Given the description of an element on the screen output the (x, y) to click on. 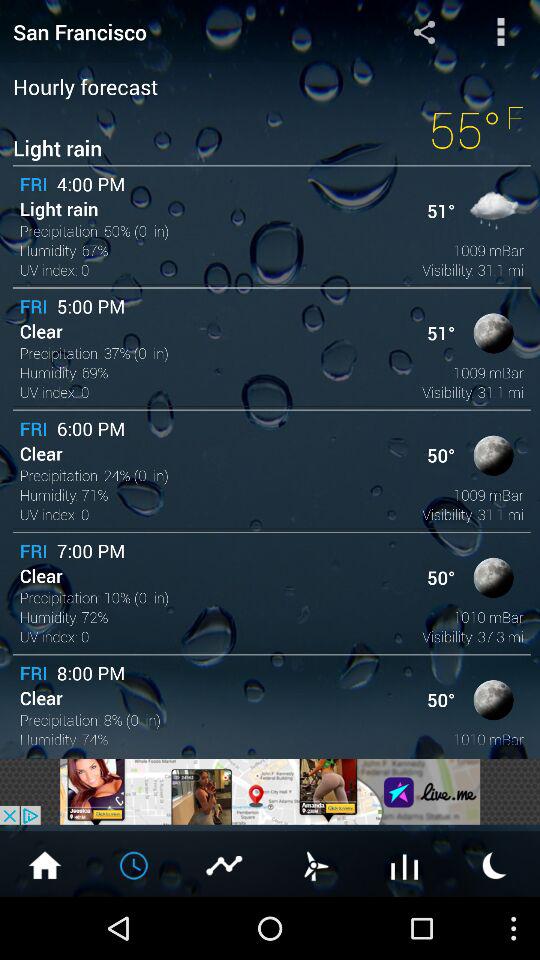
press san francisco app (179, 31)
